Given the description of an element on the screen output the (x, y) to click on. 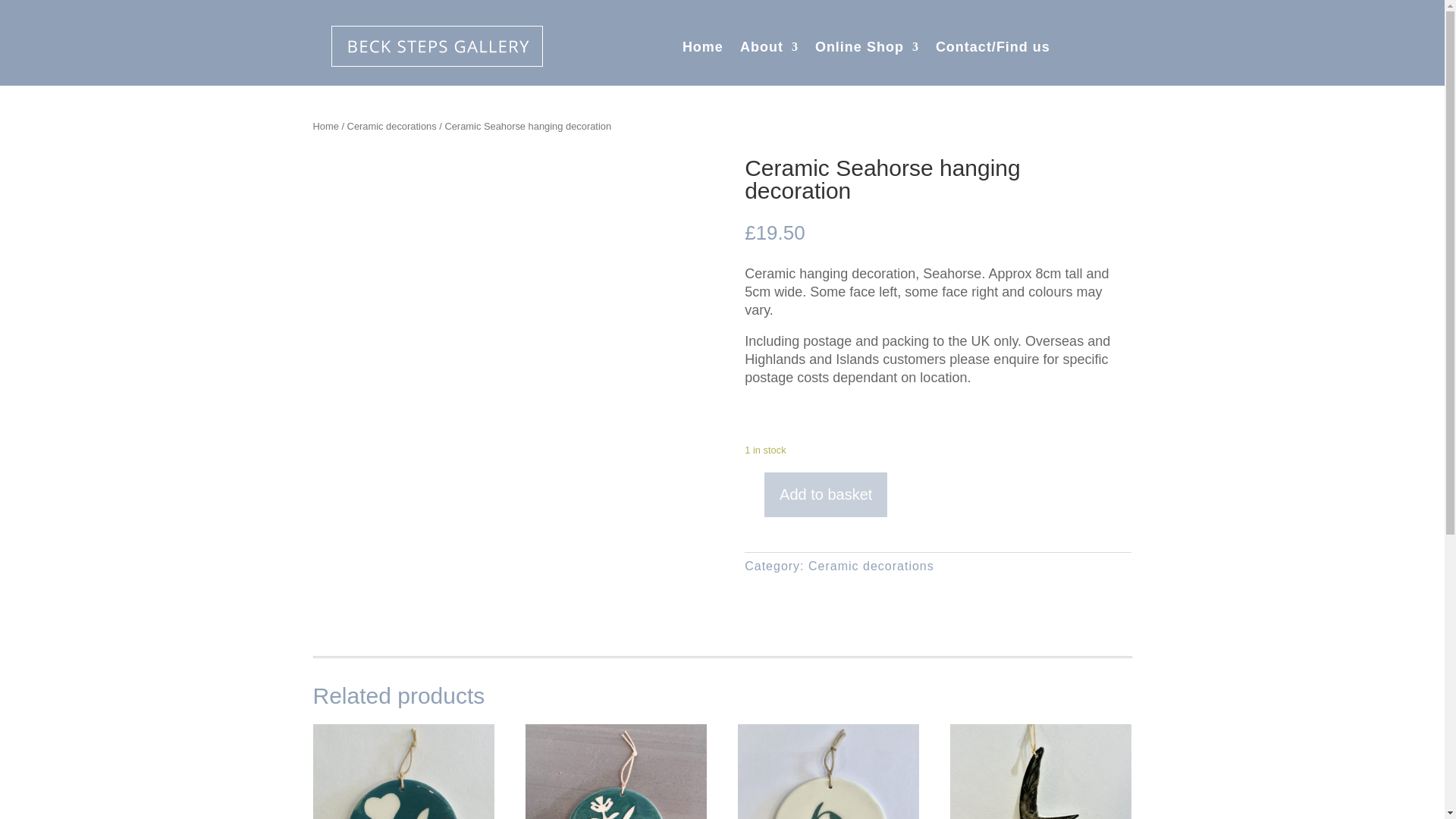
Home (702, 49)
logo 1 (436, 45)
Online Shop (866, 49)
About (768, 49)
